Given the description of an element on the screen output the (x, y) to click on. 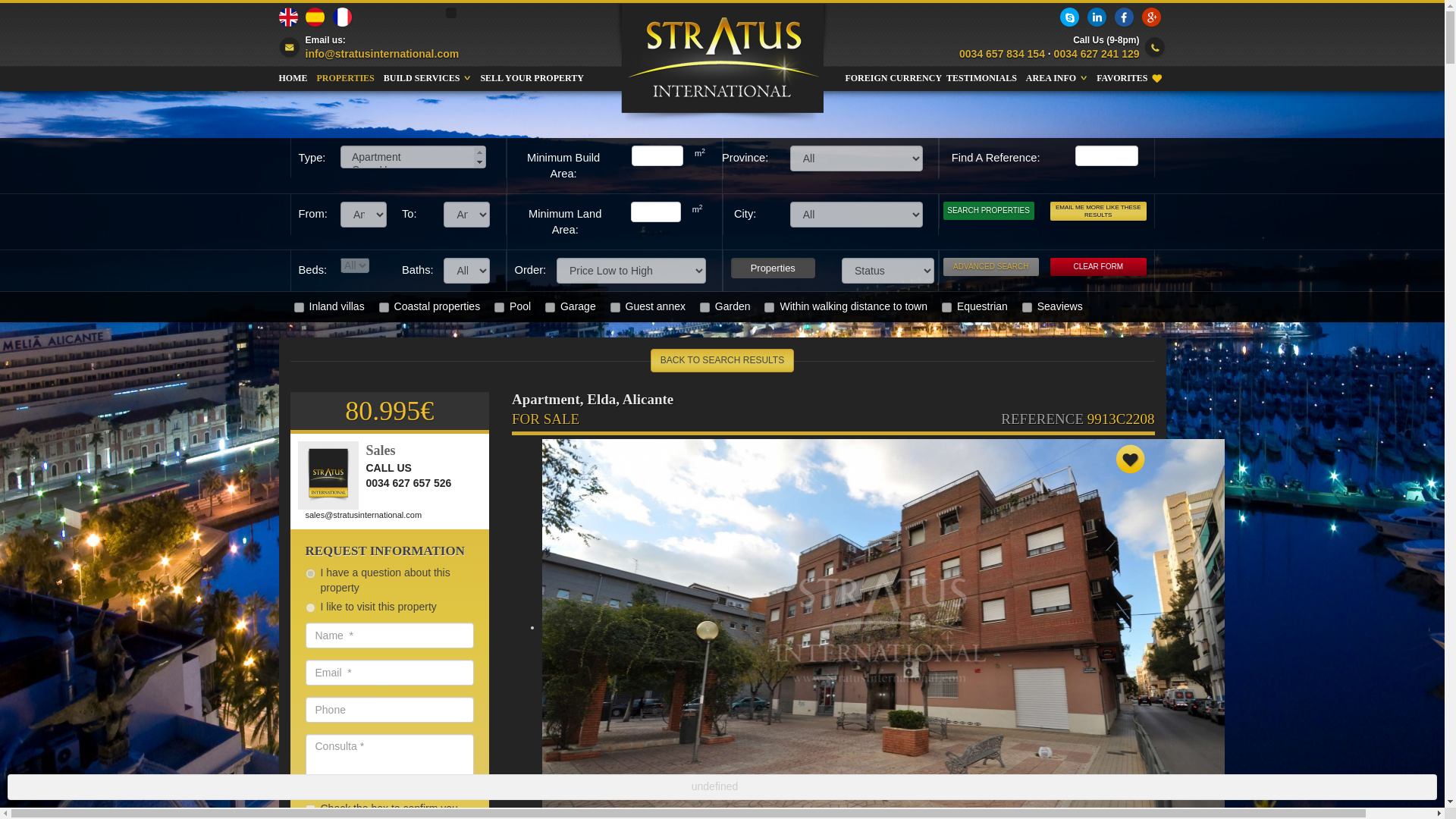
AREA INFO (1056, 77)
TESTIMONIALS (981, 77)
BUILD SERVICES (427, 77)
I like to visit this property (309, 607)
PROPERTIES (345, 77)
SELL YOUR PROPERTY (531, 77)
1 (1027, 307)
HOME (293, 77)
1 (769, 307)
1 (549, 307)
on (309, 809)
FAVORITES (1128, 77)
I have a question about this property (309, 573)
1 (947, 307)
0034 657 834 154 (1002, 53)
